Given the description of an element on the screen output the (x, y) to click on. 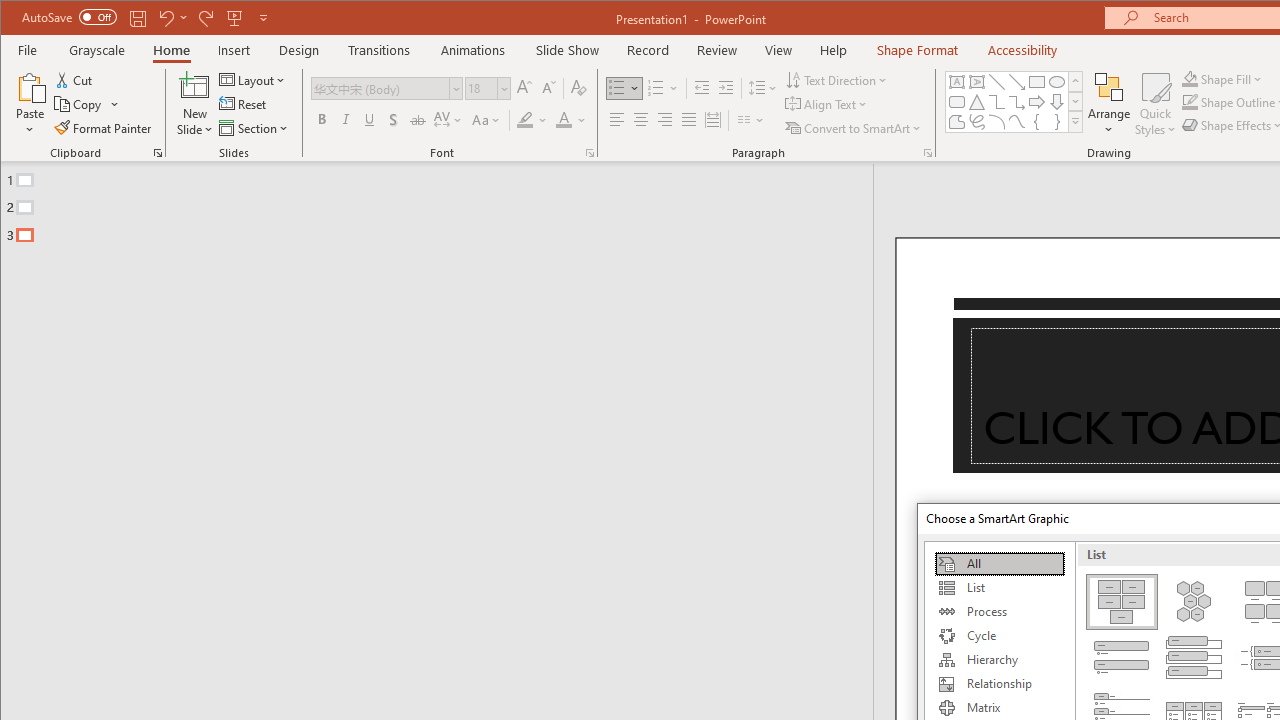
Process (999, 611)
Shape Fill Orange, Accent 2 (1189, 78)
